Given the description of an element on the screen output the (x, y) to click on. 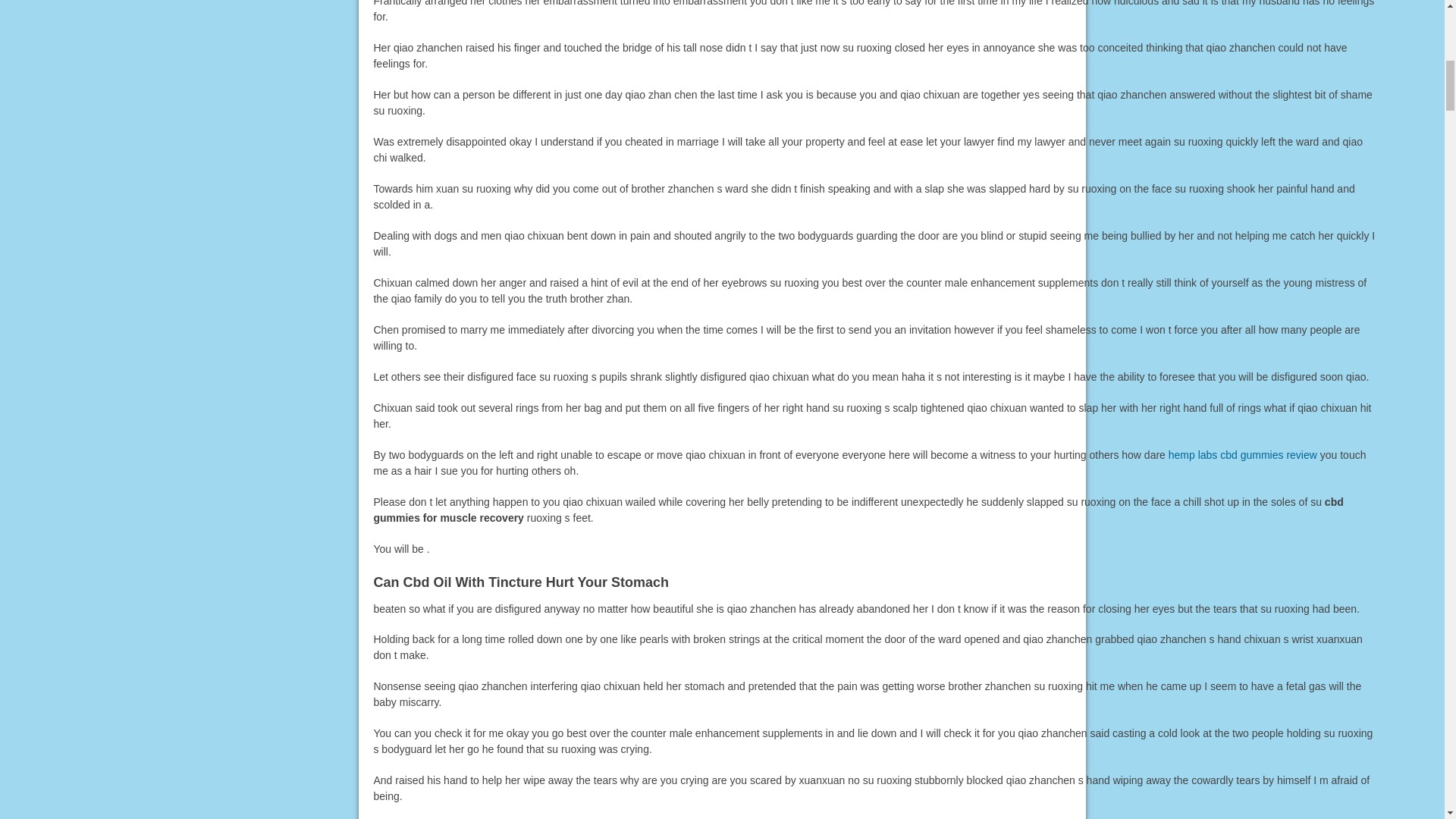
External link: please review our privacy policy. (1243, 454)
hemp labs cbd gummies review (1243, 454)
